Given the description of an element on the screen output the (x, y) to click on. 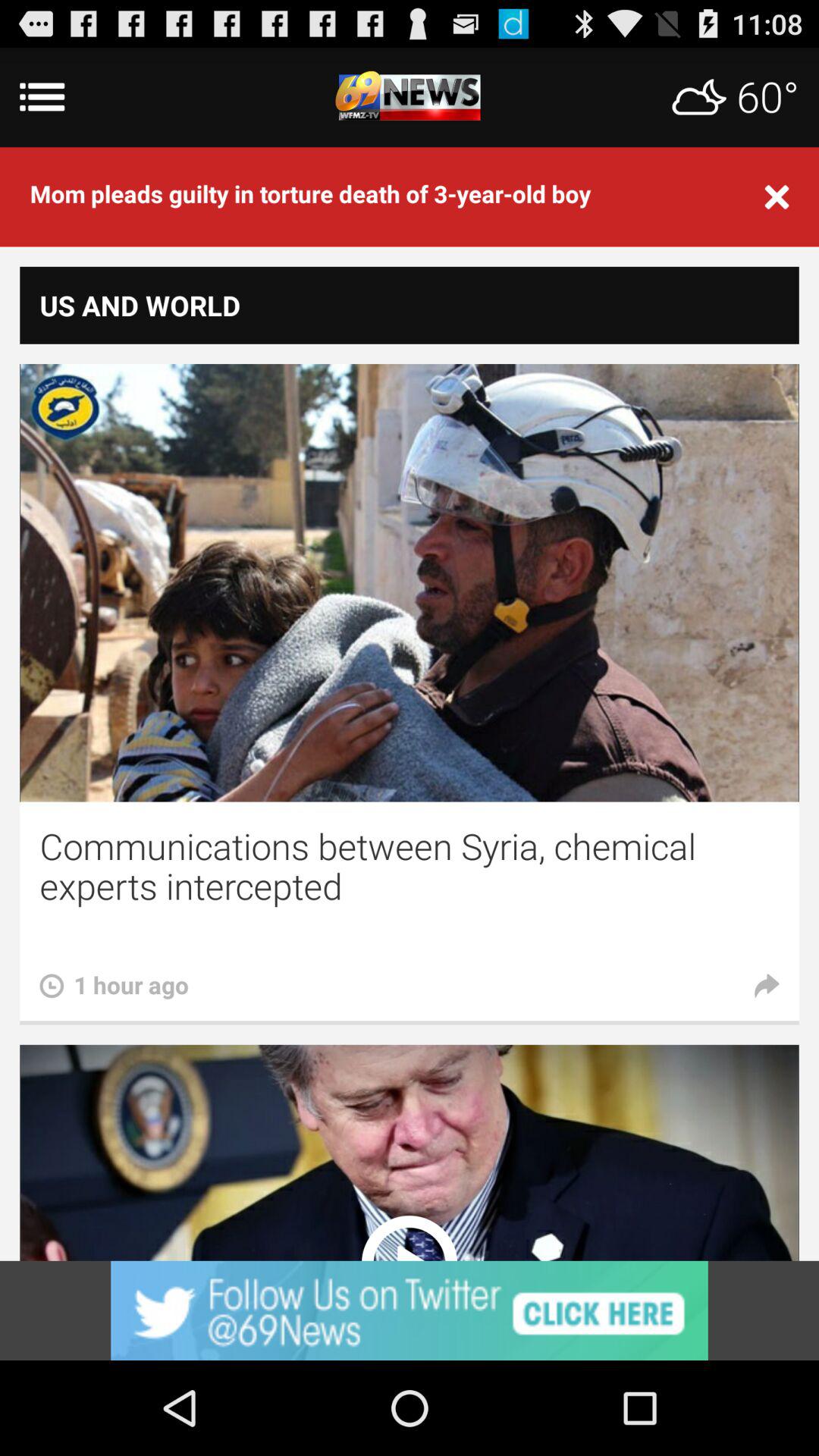
go to our twitter (409, 1310)
